Given the description of an element on the screen output the (x, y) to click on. 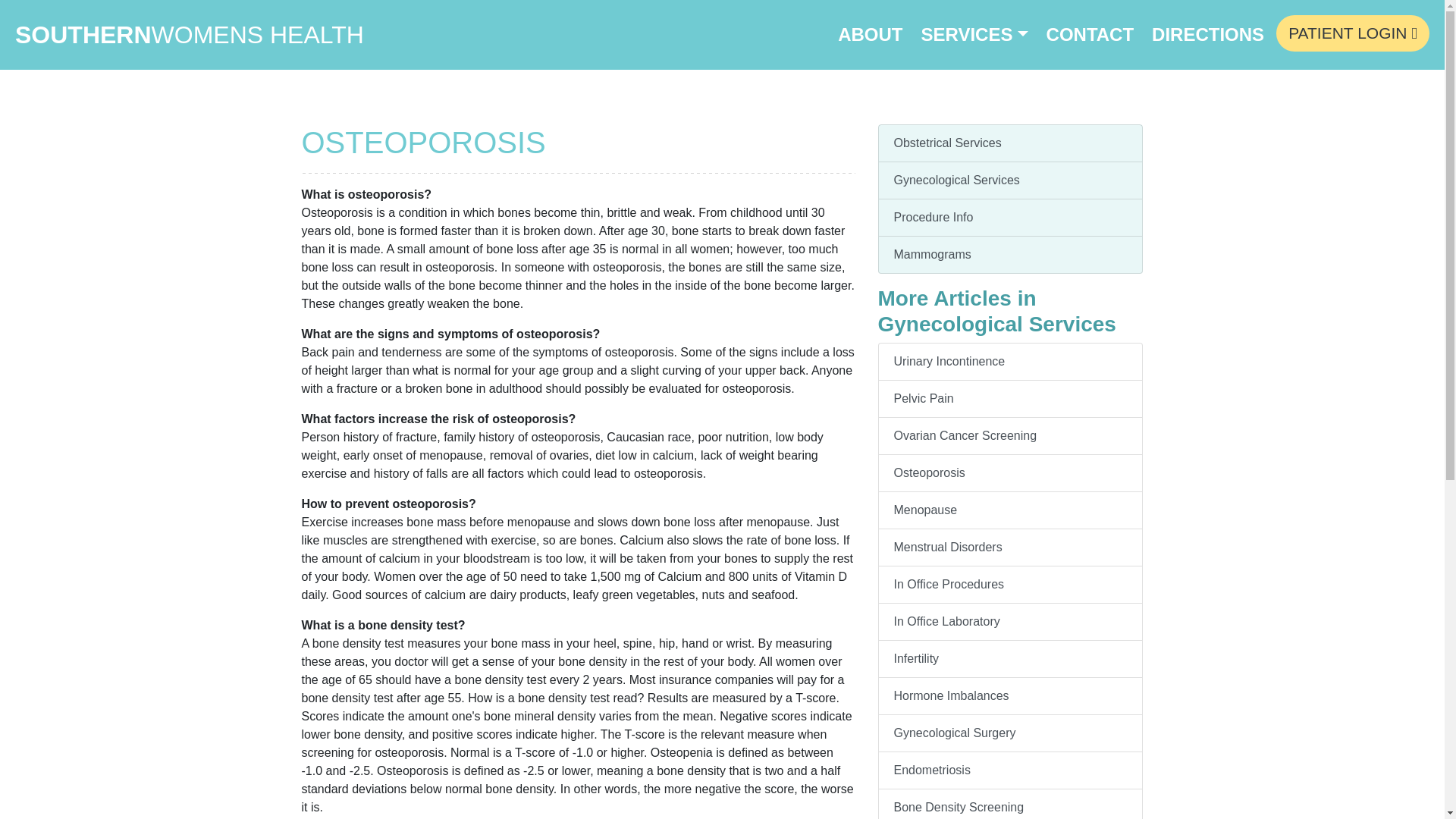
Infertility (1009, 659)
Mammograms (1009, 254)
SERVICES (974, 34)
CONTACT (1090, 34)
Menopause (1009, 510)
In Office Laboratory (1009, 621)
ABOUT (869, 34)
Ovarian Cancer Screening (1009, 436)
Hormone Imbalances (1009, 696)
Osteoporosis (1009, 473)
